Given the description of an element on the screen output the (x, y) to click on. 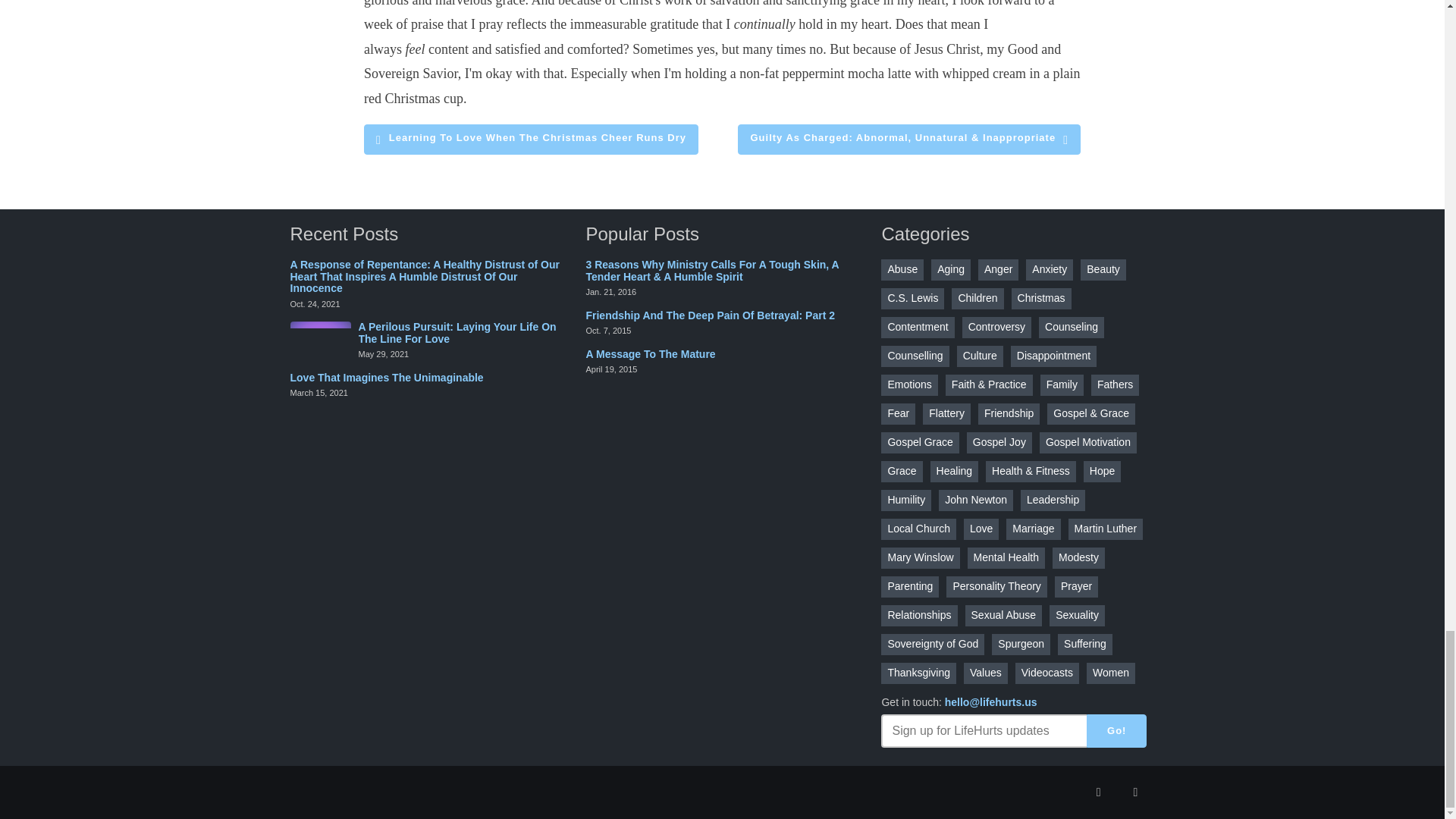
Friendship And The Deep Pain Of Betrayal: Part 2 (709, 315)
Show all entries in Family (1062, 384)
Show all entries in Controversy (996, 327)
Show all entries in Fear (897, 414)
Show all entries in Aging   (951, 269)
Show all entries in Flattery (947, 414)
Love That Imagines The Unimaginable (386, 377)
Show all entries in Abuse (901, 269)
Show all entries in Anger (997, 269)
Show all entries in Contentment (916, 327)
Aging (951, 269)
Show all entries in Children (977, 298)
Abuse (901, 269)
Learning To Love When The Christmas Cheer Runs Dry (531, 139)
Show all entries in C.S. Lewis (911, 298)
